Given the description of an element on the screen output the (x, y) to click on. 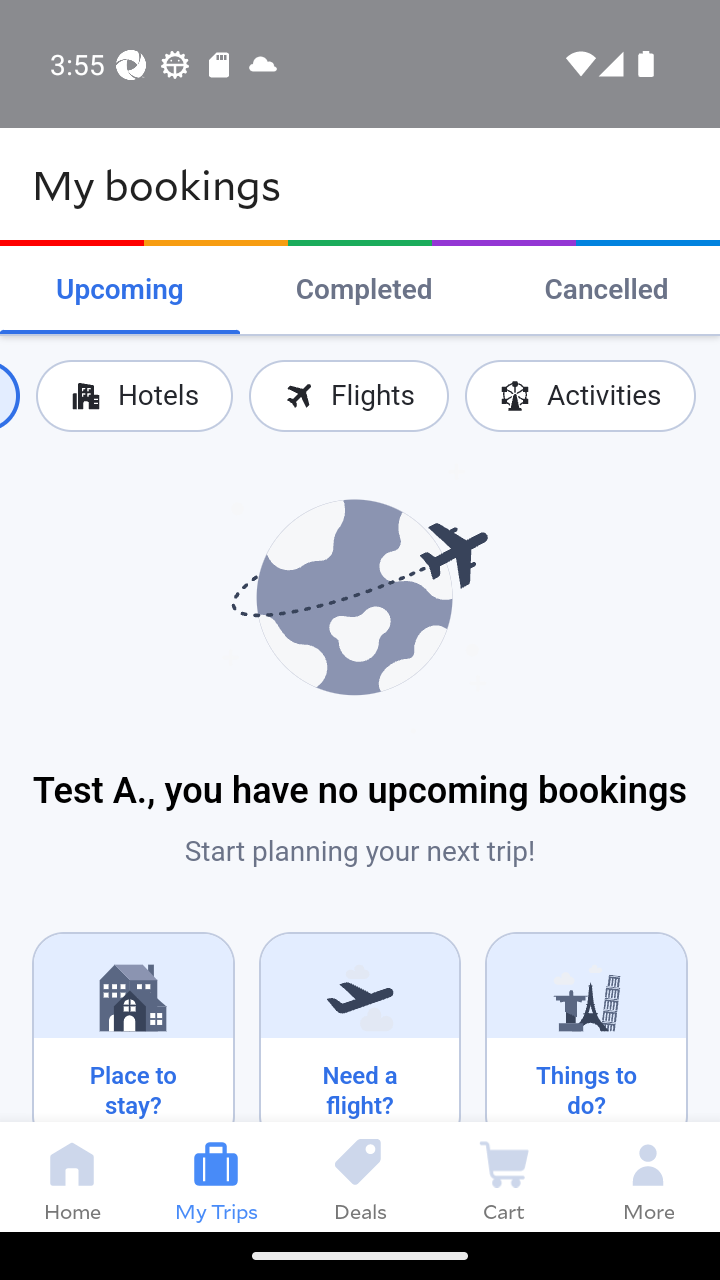
Upcoming (119, 289)
Completed (363, 289)
Cancelled (606, 289)
Hotels (133, 395)
Flights (348, 395)
Activities (579, 395)
Home (72, 1176)
My Trips (216, 1176)
Deals (360, 1176)
Cart (504, 1176)
More (648, 1176)
